Given the description of an element on the screen output the (x, y) to click on. 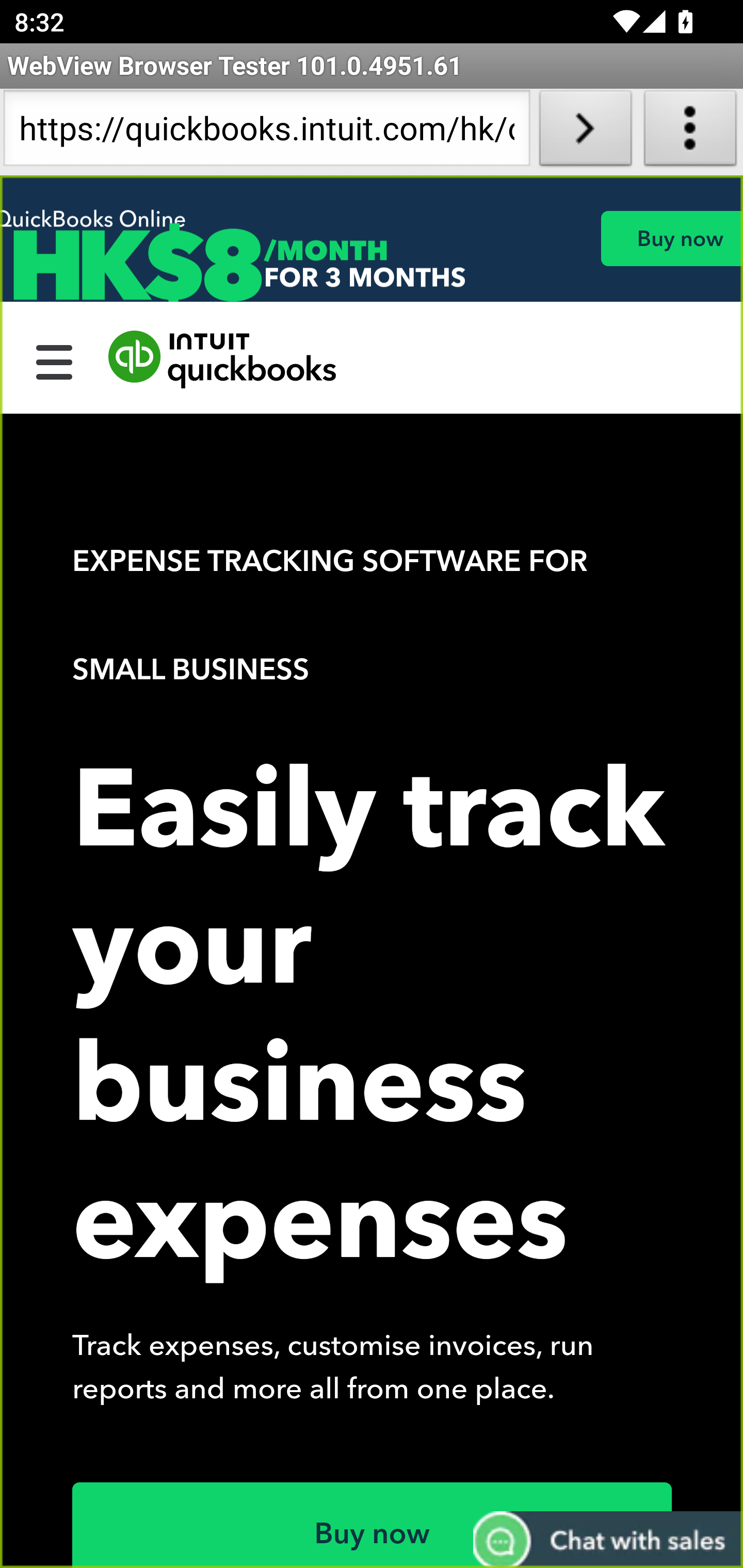
Load URL (585, 132)
About WebView (690, 132)
Buy now (671, 238)
quickbooks-mobile-burger (54, 359)
quickbooks (222, 359)
Buy now (372, 1524)
